Given the description of an element on the screen output the (x, y) to click on. 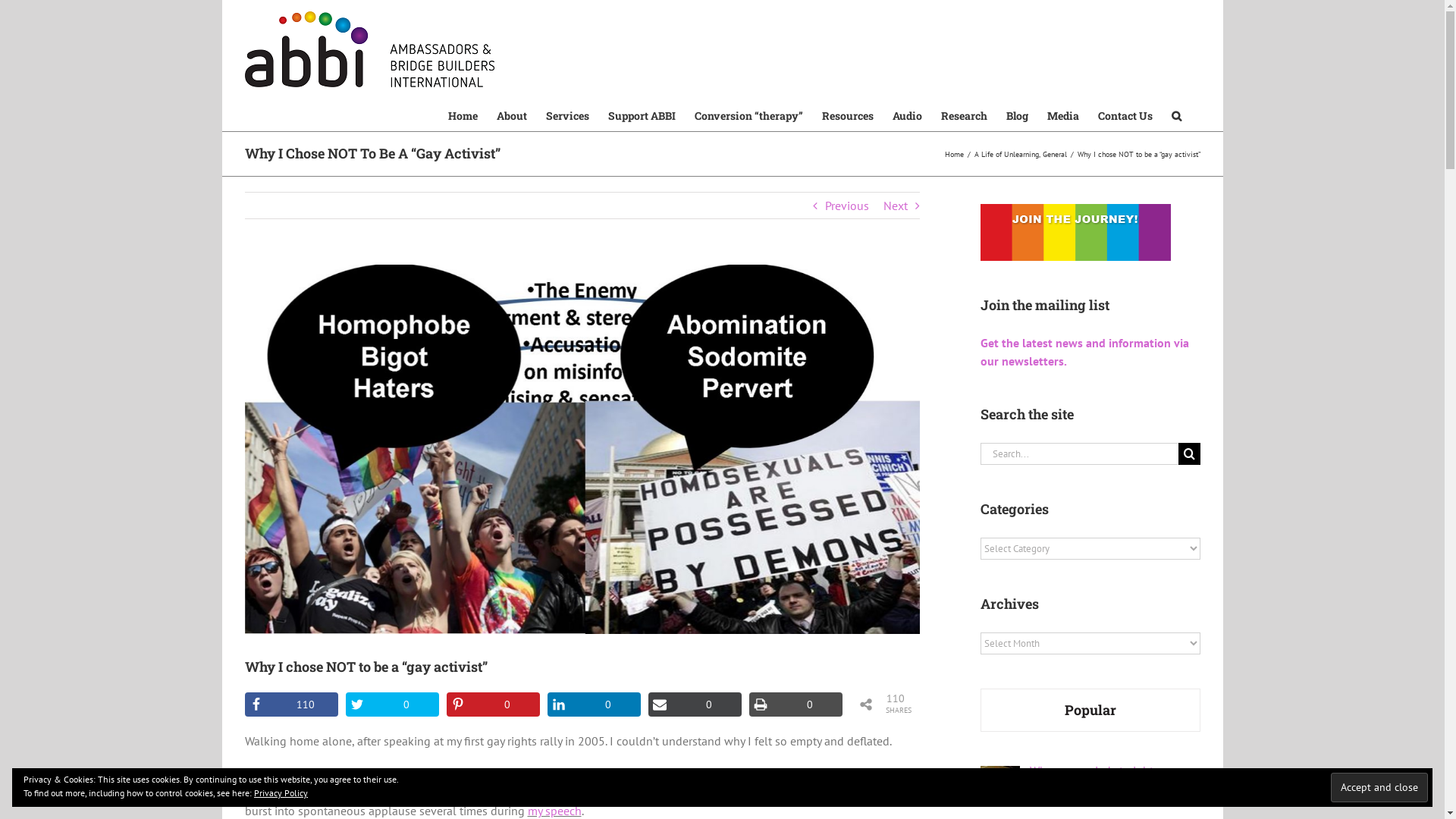
Blog Element type: text (1016, 114)
Media Element type: text (1062, 114)
Resources Element type: text (847, 114)
View Larger Image Element type: text (581, 448)
Support ABBI Element type: text (641, 114)
Popular Element type: text (1090, 710)
Next Element type: text (895, 205)
General Element type: text (1053, 153)
A Life of Unlearning Element type: text (1006, 153)
0 Element type: text (694, 704)
Get the latest news and information via our newsletters. Element type: text (1084, 351)
When a married straight man falls in love with another man Element type: text (1114, 777)
Contact Us Element type: text (1125, 114)
Privacy Policy Element type: text (280, 792)
my speech Element type: text (554, 810)
0 Element type: text (492, 704)
0 Element type: text (392, 704)
About Element type: text (510, 114)
0 Element type: text (593, 704)
Search Element type: hover (1175, 114)
Research Element type: text (963, 114)
0 Element type: text (795, 704)
Audio Element type: text (906, 114)
110 Element type: text (290, 704)
Services Element type: text (567, 114)
Previous Element type: text (847, 205)
Home Element type: text (461, 114)
Accept and close Element type: text (1378, 787)
Home Element type: text (953, 153)
